Given the description of an element on the screen output the (x, y) to click on. 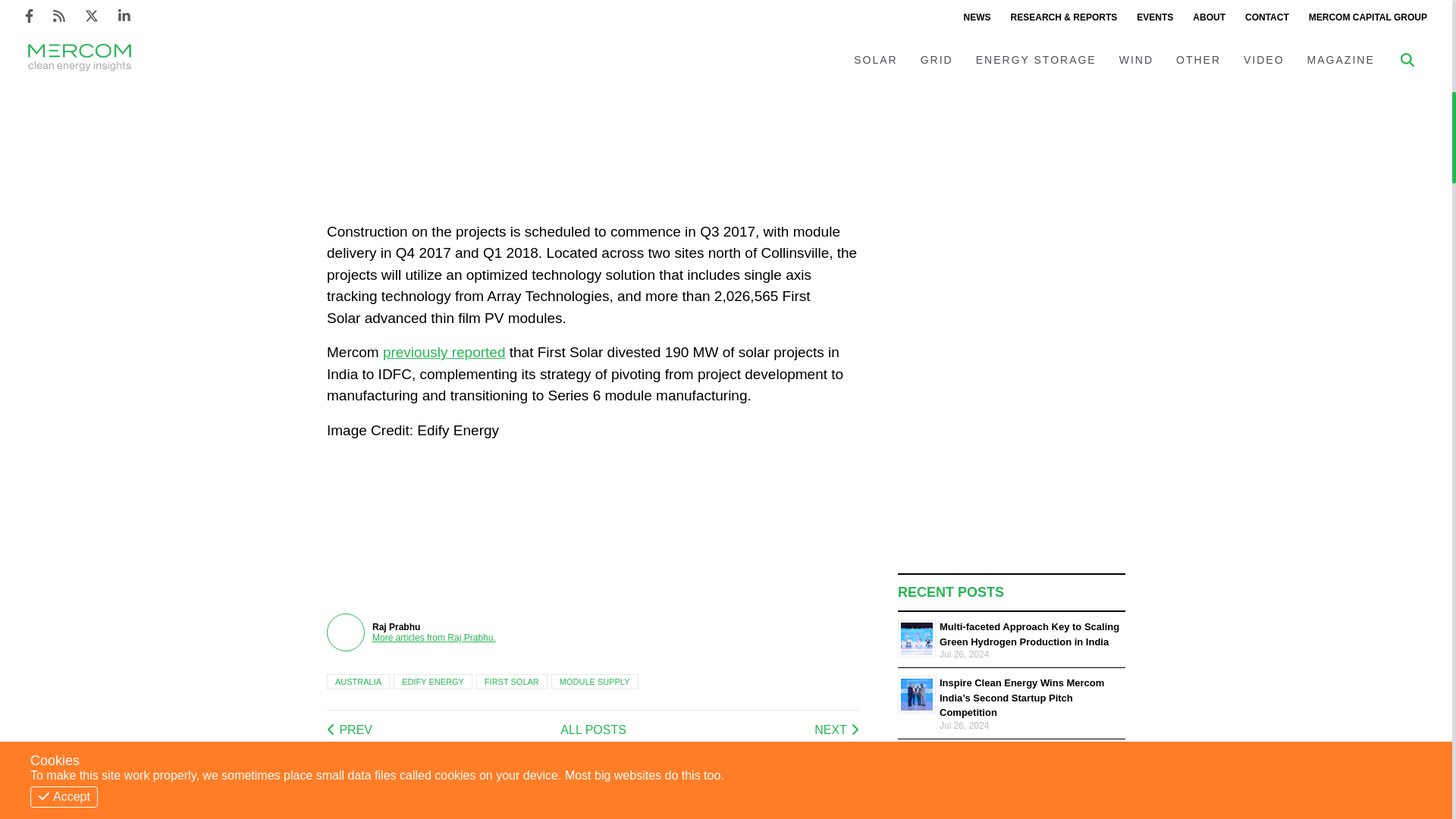
3rd party ad content (704, 166)
3rd party ad content (1011, 28)
